Given the description of an element on the screen output the (x, y) to click on. 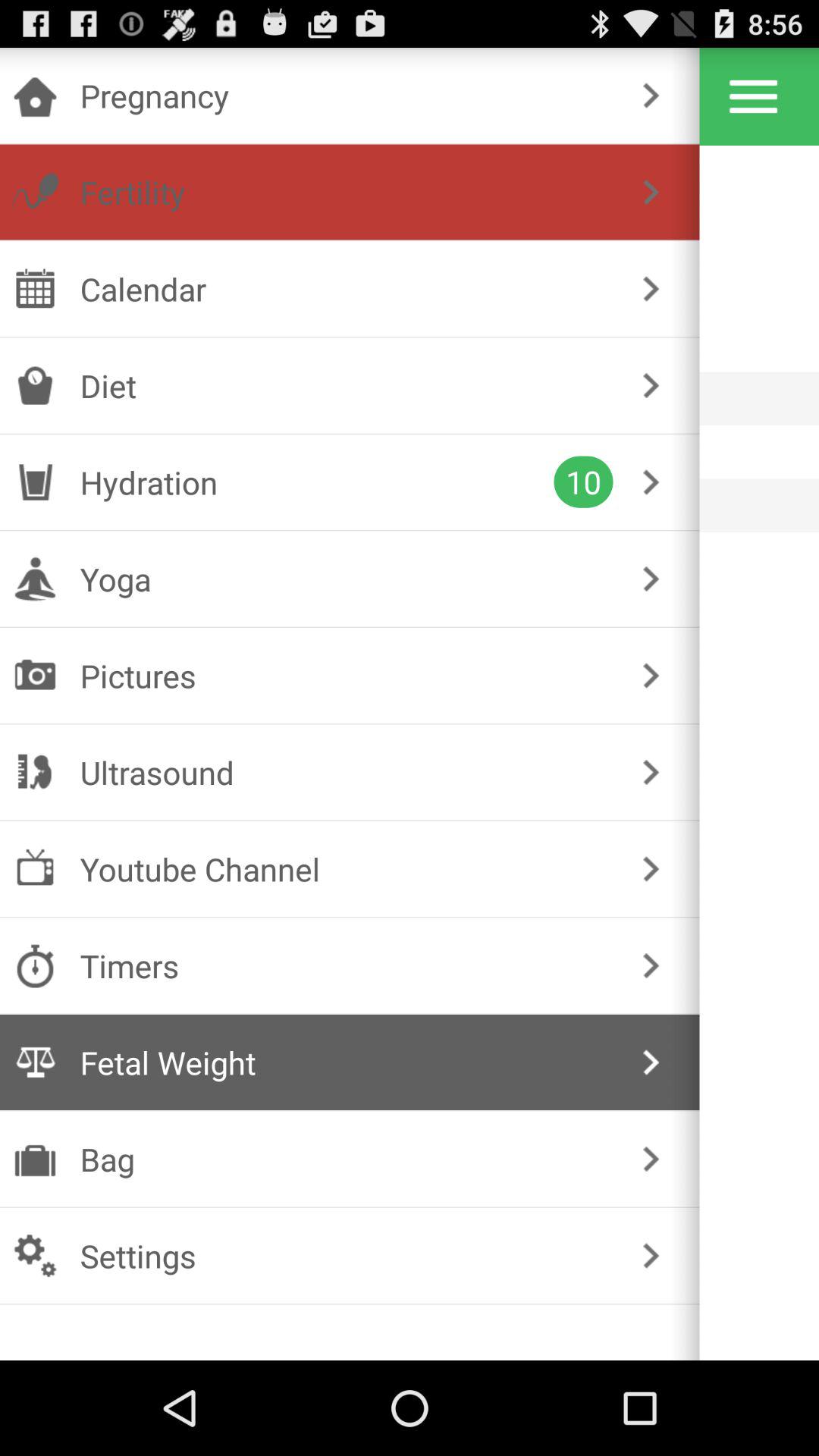
menu (753, 96)
